Given the description of an element on the screen output the (x, y) to click on. 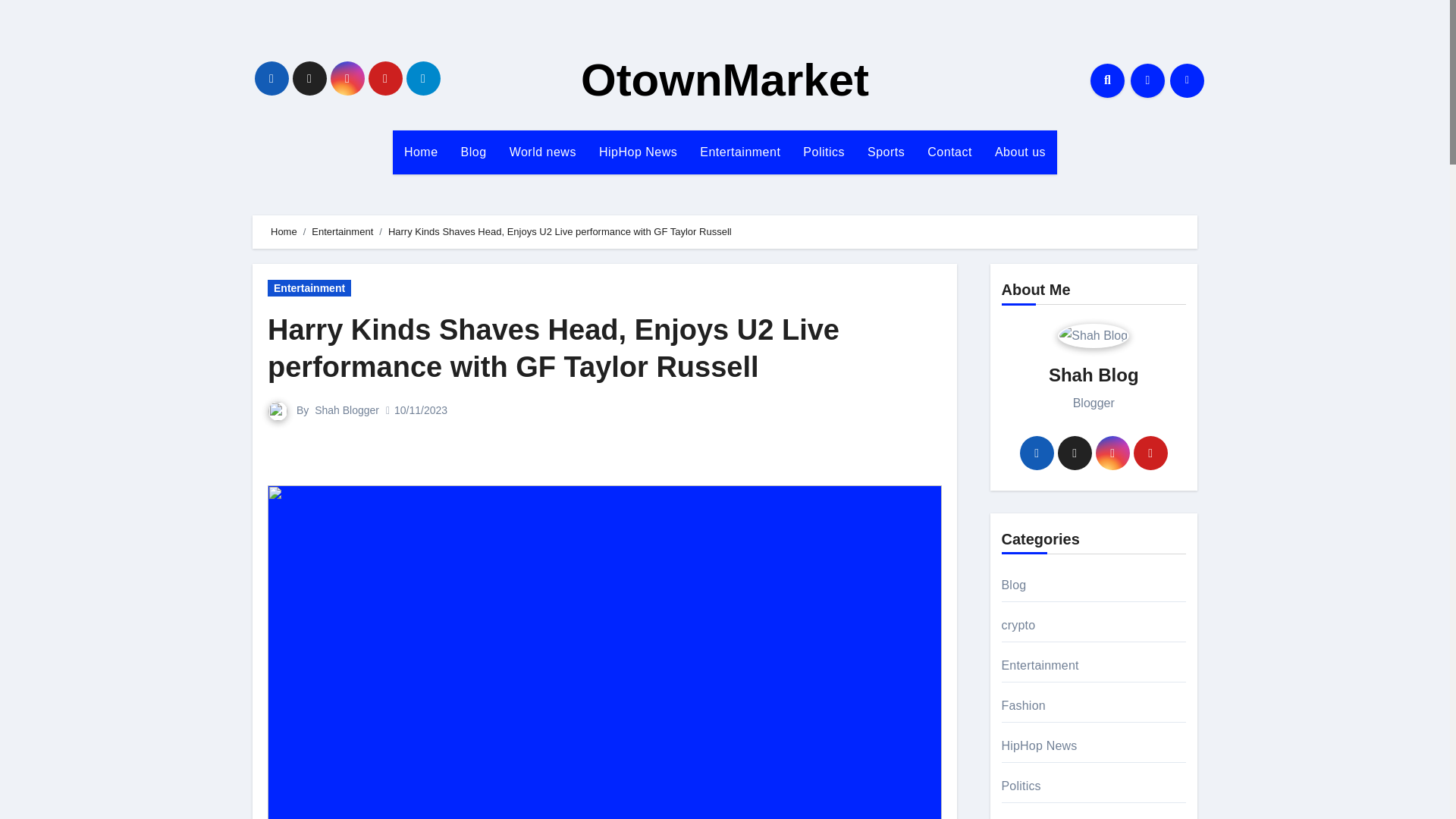
Home (421, 152)
Politics (824, 152)
Blog (473, 152)
Home (421, 152)
World news (542, 152)
Sports (885, 152)
HipHop News (638, 152)
Home (283, 231)
Entertainment (740, 152)
Blog (473, 152)
World news (542, 152)
OtownMarket (724, 79)
Contact (949, 152)
Entertainment (308, 288)
